Given the description of an element on the screen output the (x, y) to click on. 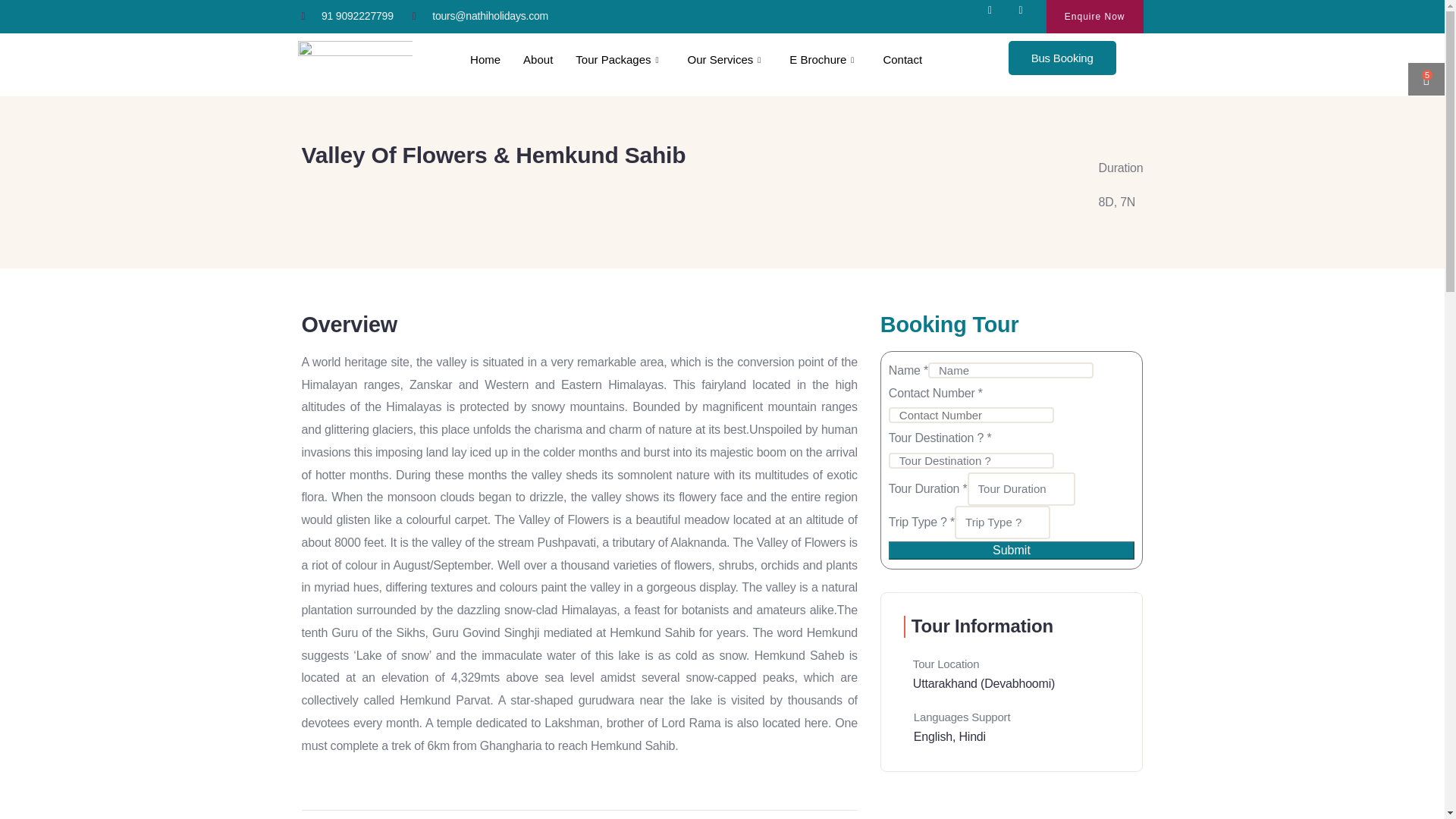
Contact (901, 59)
Bus Booking (1062, 57)
E Brochure (823, 59)
91 9092227799 (347, 15)
Home (485, 59)
Tour Packages (619, 59)
Our Services (727, 59)
Enquire Now (1094, 16)
About (538, 59)
